Given the description of an element on the screen output the (x, y) to click on. 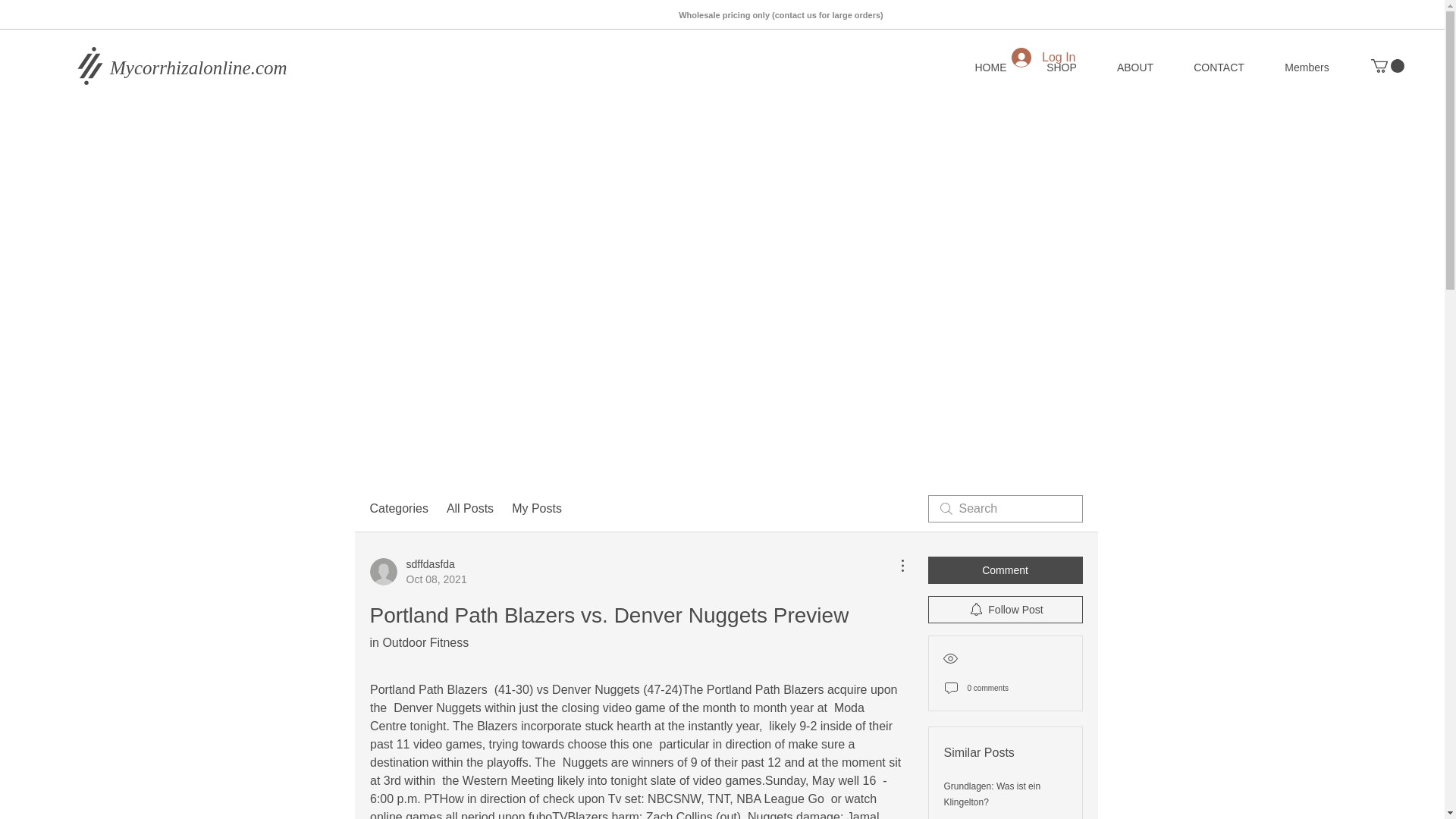
Categories (398, 508)
in Outdoor Fitness (418, 642)
CONTACT (1218, 67)
HOME (990, 67)
Members (1306, 67)
SHOP (418, 571)
Mycorrhizalonline.com (1061, 67)
Grundlagen: Was ist ein Klingelton? (215, 66)
ABOUT (992, 794)
